Given the description of an element on the screen output the (x, y) to click on. 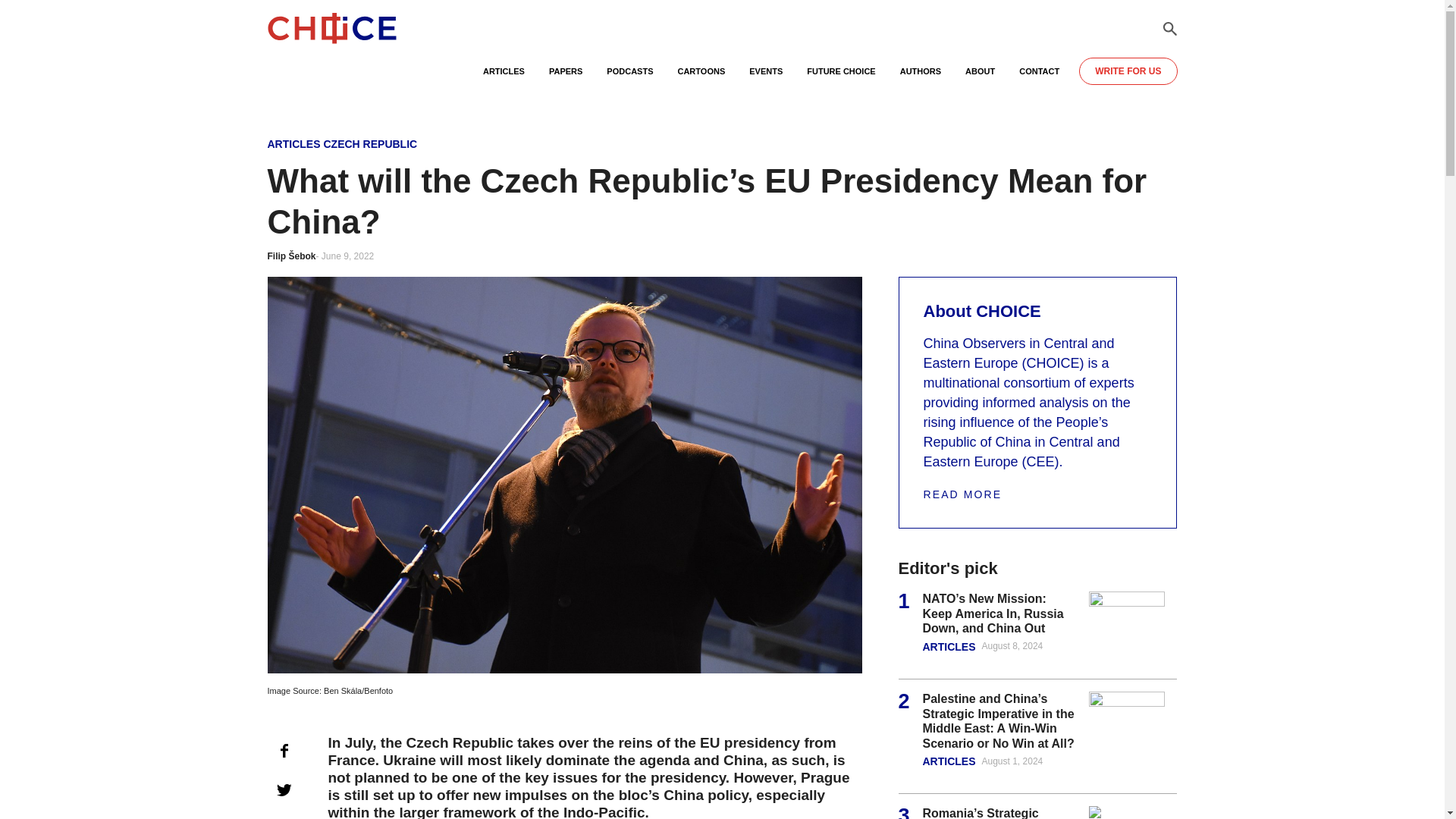
Share on Facebook (282, 750)
Share on Twitter (282, 789)
PAPERS (565, 78)
Toggle search (1169, 28)
WRITE FOR US (1127, 71)
ARTICLES (293, 143)
CARTOONS (700, 78)
ABOUT (980, 78)
EVENTS (765, 78)
PODCASTS (629, 78)
